Given the description of an element on the screen output the (x, y) to click on. 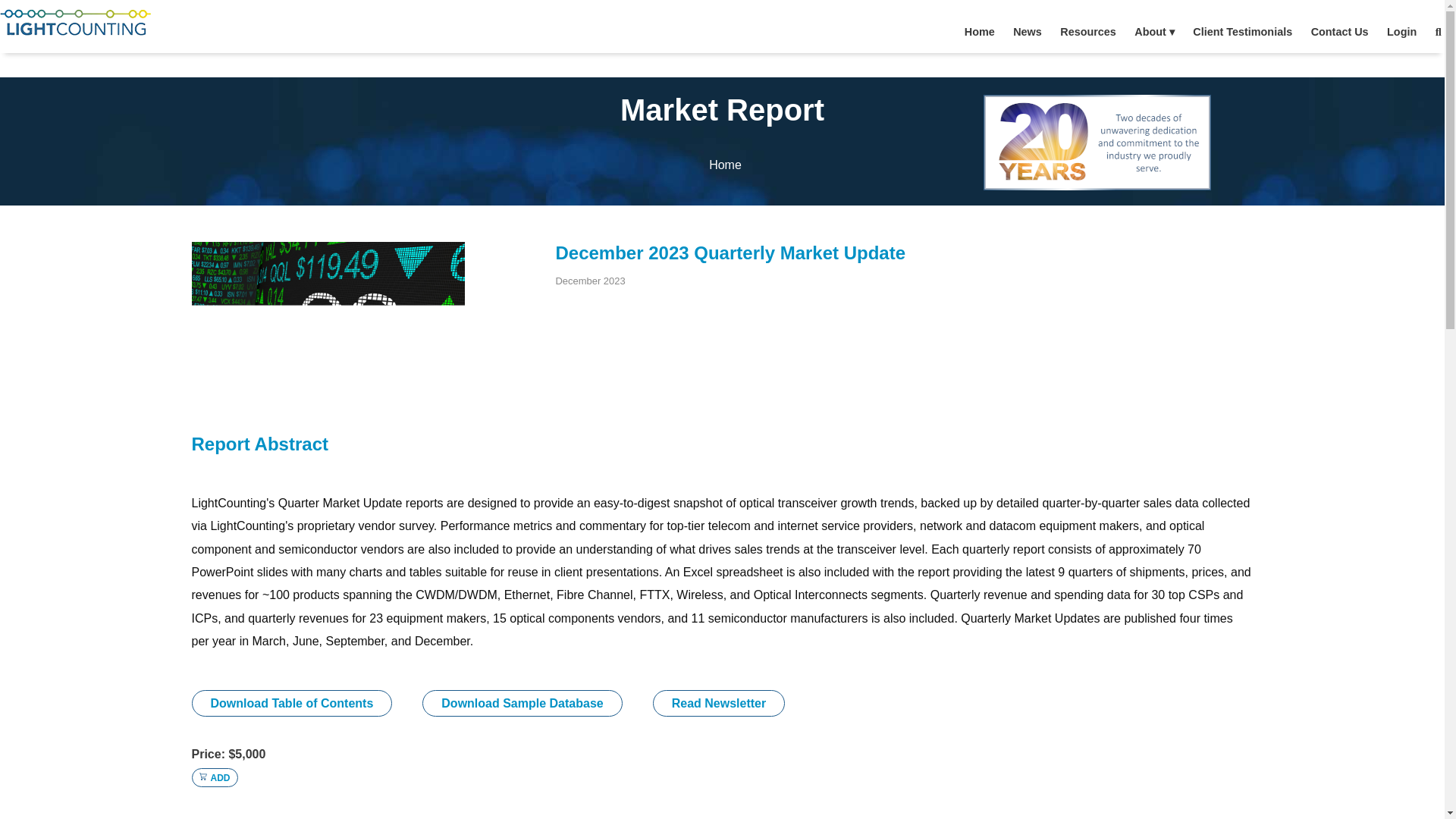
Home (725, 164)
ADD (213, 777)
Resources (1087, 31)
Download Table of Contents (290, 703)
Read Newsletter (719, 703)
News (1027, 31)
Client Testimonials (1242, 31)
About (1154, 31)
Contact Us (1338, 31)
Download Sample Database (521, 703)
